Given the description of an element on the screen output the (x, y) to click on. 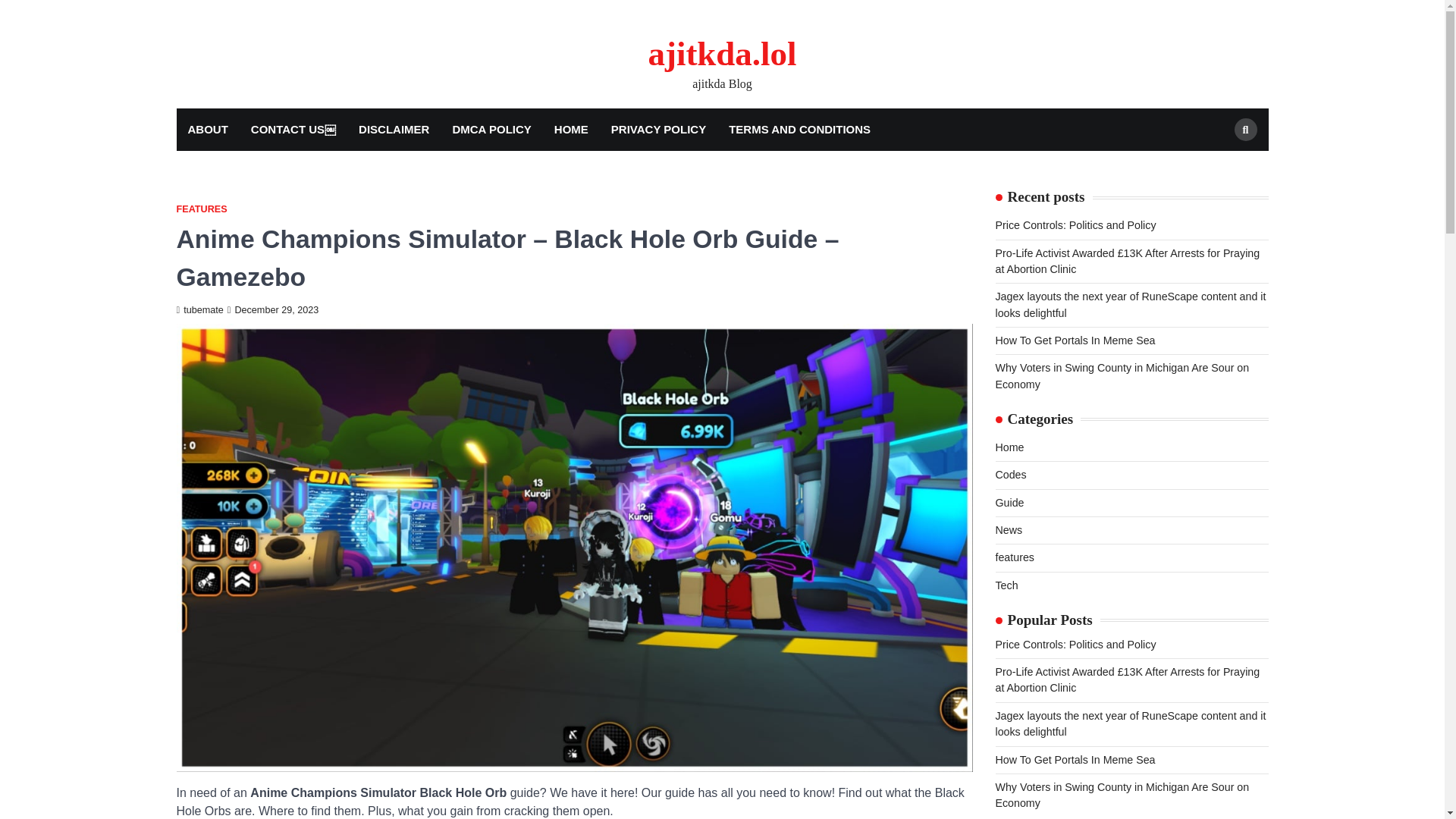
TERMS AND CONDITIONS (799, 129)
tubemate (199, 309)
December 29, 2023 (272, 309)
PRIVACY POLICY (658, 129)
Search (1217, 165)
Guide (1008, 502)
How To Get Portals In Meme Sea (1074, 759)
News (1008, 530)
ajitkda.lol (721, 53)
